Given the description of an element on the screen output the (x, y) to click on. 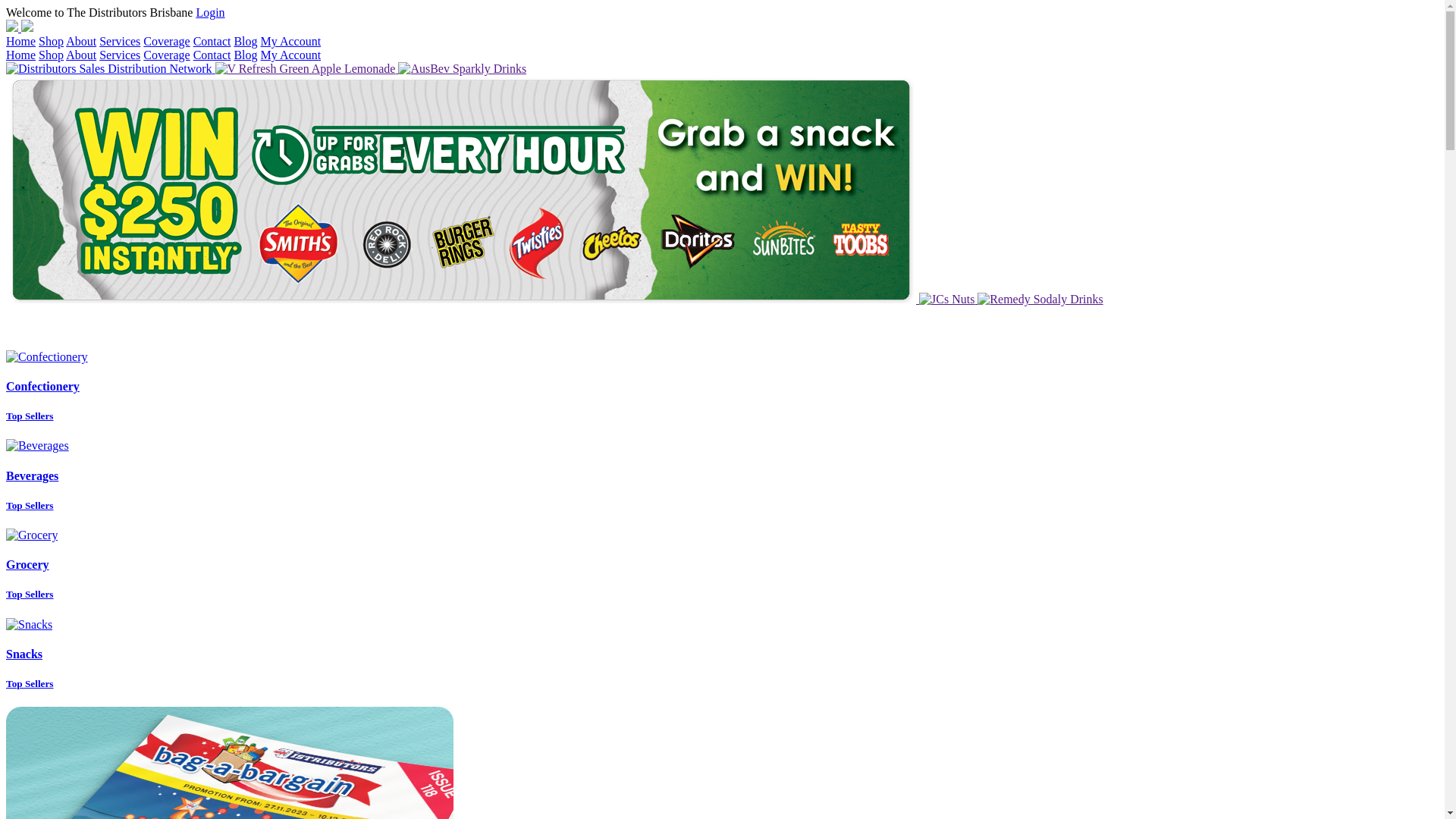
Top Sellers Element type: text (29, 593)
Services Element type: text (119, 40)
Blog Element type: text (245, 54)
Coverage Element type: text (166, 54)
Login Element type: text (209, 12)
My Account Element type: text (290, 54)
Snacks Element type: text (24, 653)
About Element type: text (80, 40)
Blog Element type: text (245, 40)
Services Element type: text (119, 54)
Grocery Element type: text (27, 564)
Confectionery Element type: text (42, 385)
My Account Element type: text (290, 40)
Top Sellers Element type: text (29, 505)
Home Element type: text (20, 40)
About Element type: text (80, 54)
Shop Element type: text (50, 40)
Shop Element type: text (50, 54)
Contact Element type: text (212, 54)
Top Sellers Element type: text (29, 683)
Coverage Element type: text (166, 40)
Home Element type: text (20, 54)
Contact Element type: text (212, 40)
Top Sellers Element type: text (29, 415)
Beverages Element type: text (32, 475)
